Given the description of an element on the screen output the (x, y) to click on. 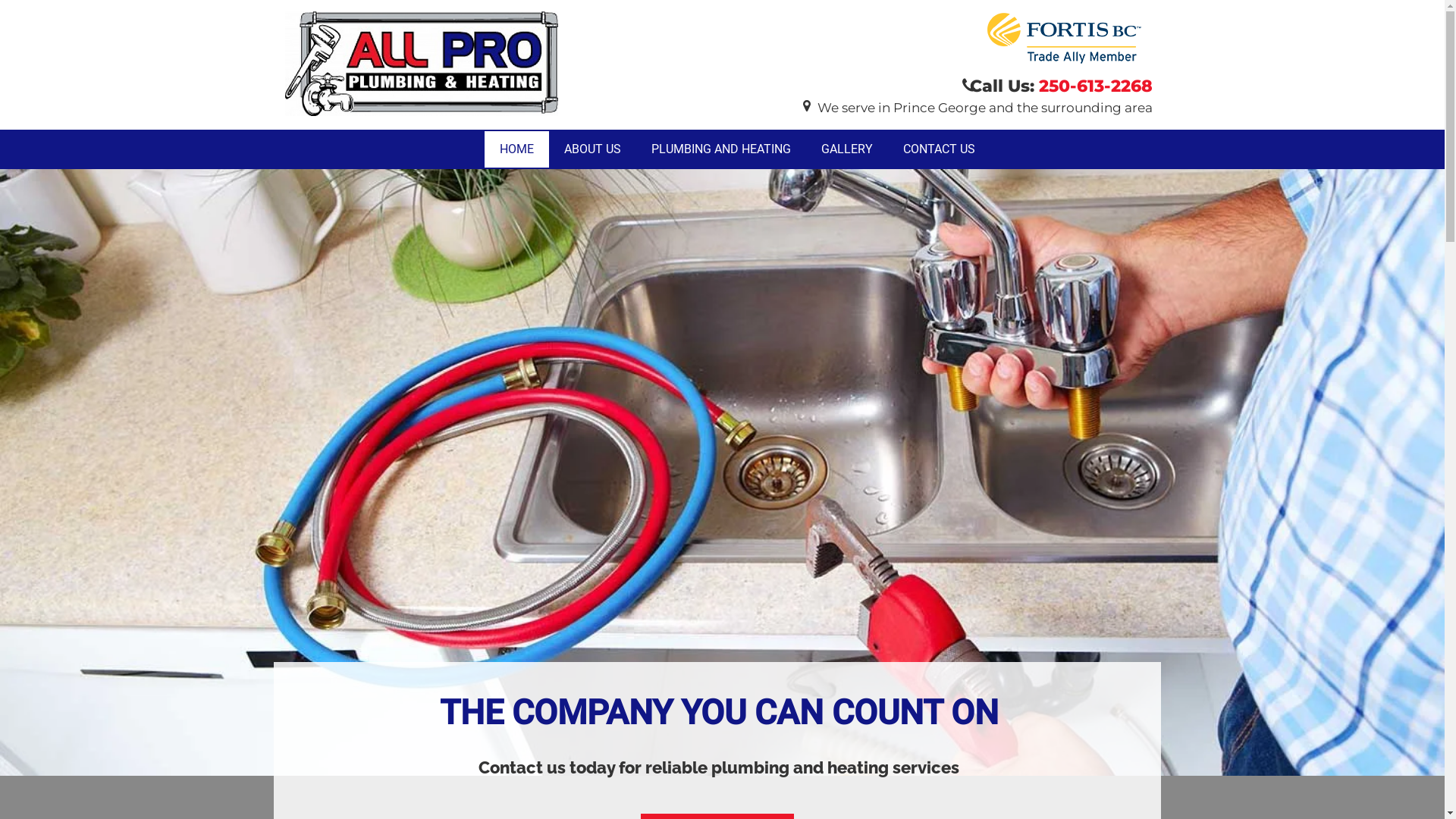
ABOUT US Element type: text (592, 149)
PLUMBING AND HEATING Element type: text (721, 149)
HOME Element type: text (516, 149)
CONTACT US Element type: text (939, 149)
250-613-2268 Element type: text (1095, 85)
GALLERY Element type: text (847, 149)
